Given the description of an element on the screen output the (x, y) to click on. 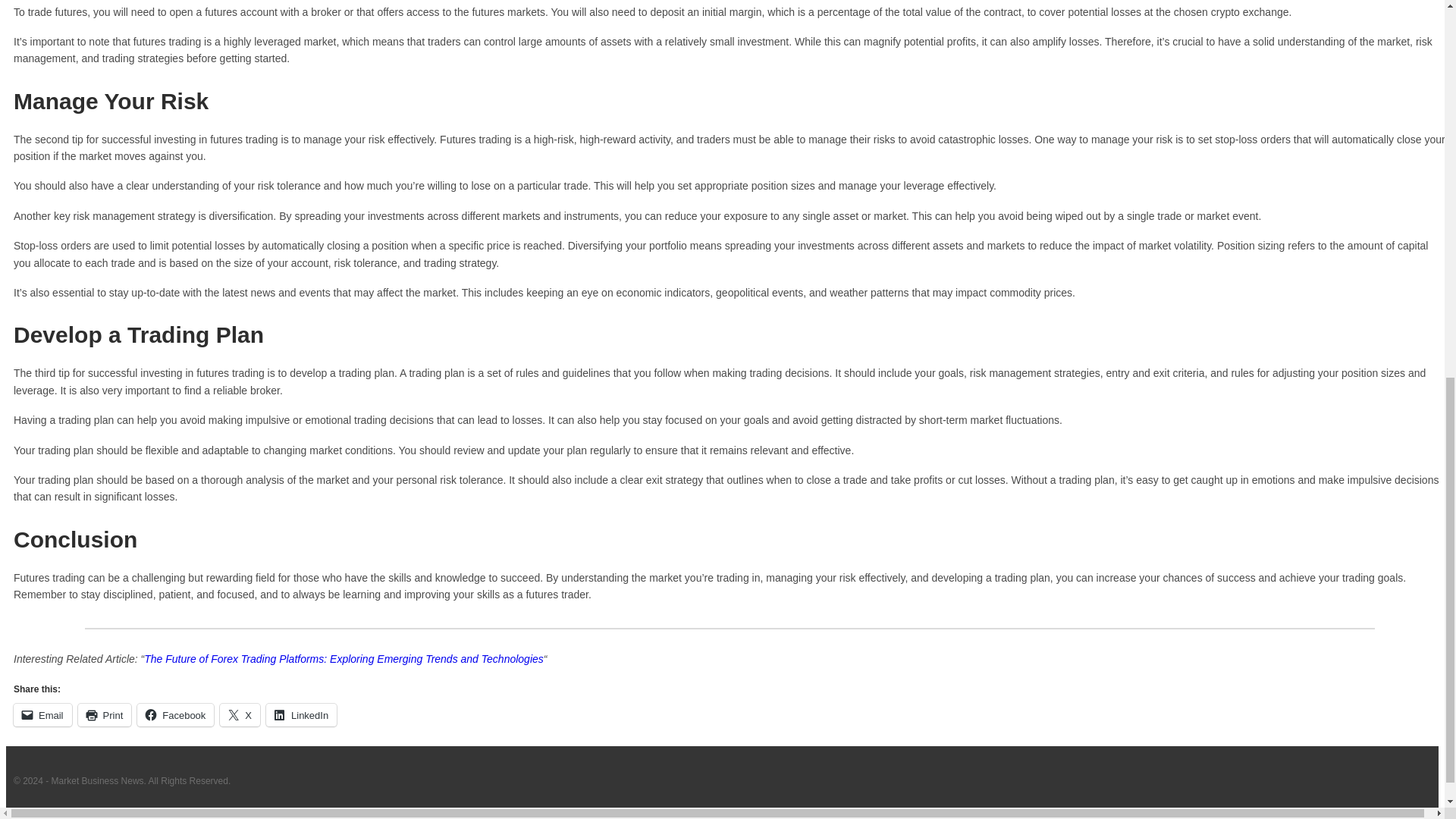
Facebook (175, 714)
X (239, 714)
Click to share on Facebook (175, 714)
Email (42, 714)
Click to email a link to a friend (42, 714)
LinkedIn (301, 714)
Print (105, 714)
Click to print (105, 714)
Click to share on LinkedIn (301, 714)
Click to share on X (239, 714)
